Given the description of an element on the screen output the (x, y) to click on. 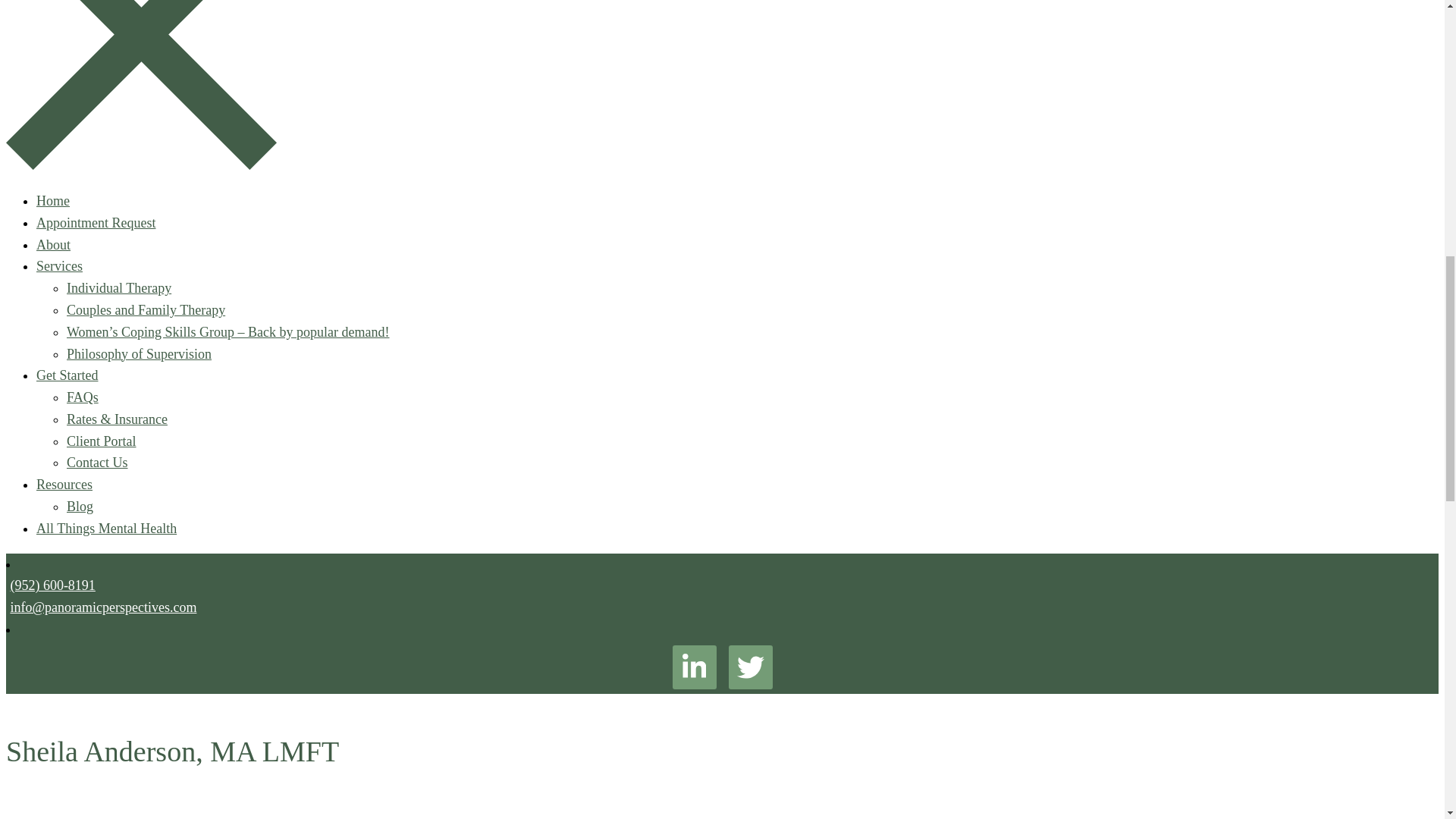
Get Started (66, 375)
Individual Therapy (118, 287)
FAQs (82, 396)
Philosophy of Supervision (138, 353)
Couples and Family Therapy (145, 309)
Services (59, 265)
Home (52, 200)
Appointment Request (95, 222)
About (52, 244)
